Given the description of an element on the screen output the (x, y) to click on. 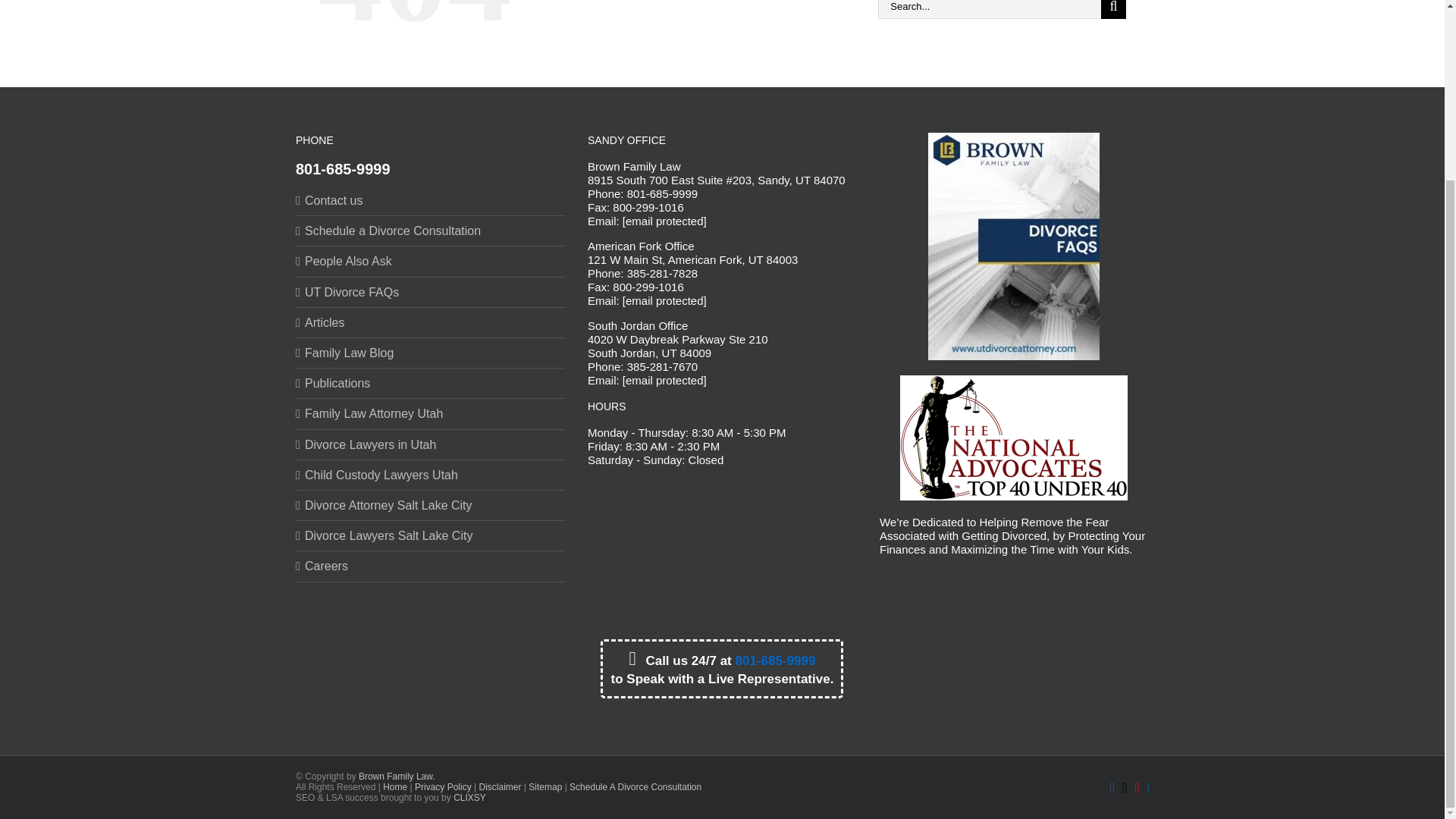
Family Law Attorney Utah (430, 413)
Schedule a Divorce Consultation (430, 230)
People Also Ask (430, 260)
Contact us (430, 200)
Child Custody Lawyers Utah (430, 474)
Divorce Lawyers in Utah (430, 444)
Divorce Attorney Salt Lake City (430, 504)
801-685-9999 (342, 168)
UT Divorce FAQs (430, 292)
Family Law Blog (430, 352)
